Given the description of an element on the screen output the (x, y) to click on. 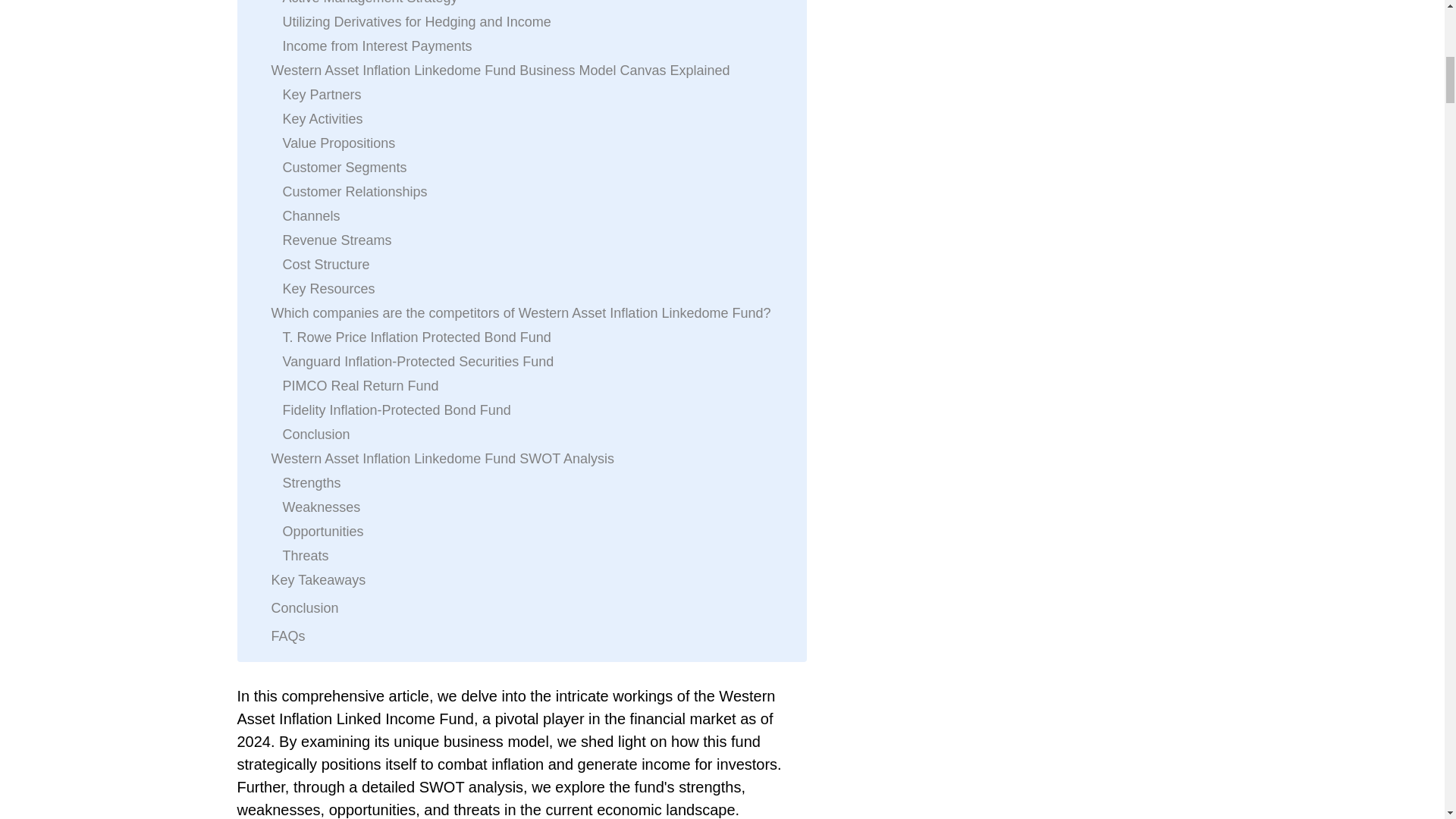
Key Resources (328, 288)
Threats (305, 555)
Conclusion (304, 608)
Utilizing Derivatives for Hedging and Income (416, 21)
Vanguard Inflation-Protected Securities Fund (417, 361)
Conclusion (315, 434)
Key Takeaways (318, 579)
Opportunities (322, 531)
Fidelity Inflation-Protected Bond Fund (396, 409)
